Given the description of an element on the screen output the (x, y) to click on. 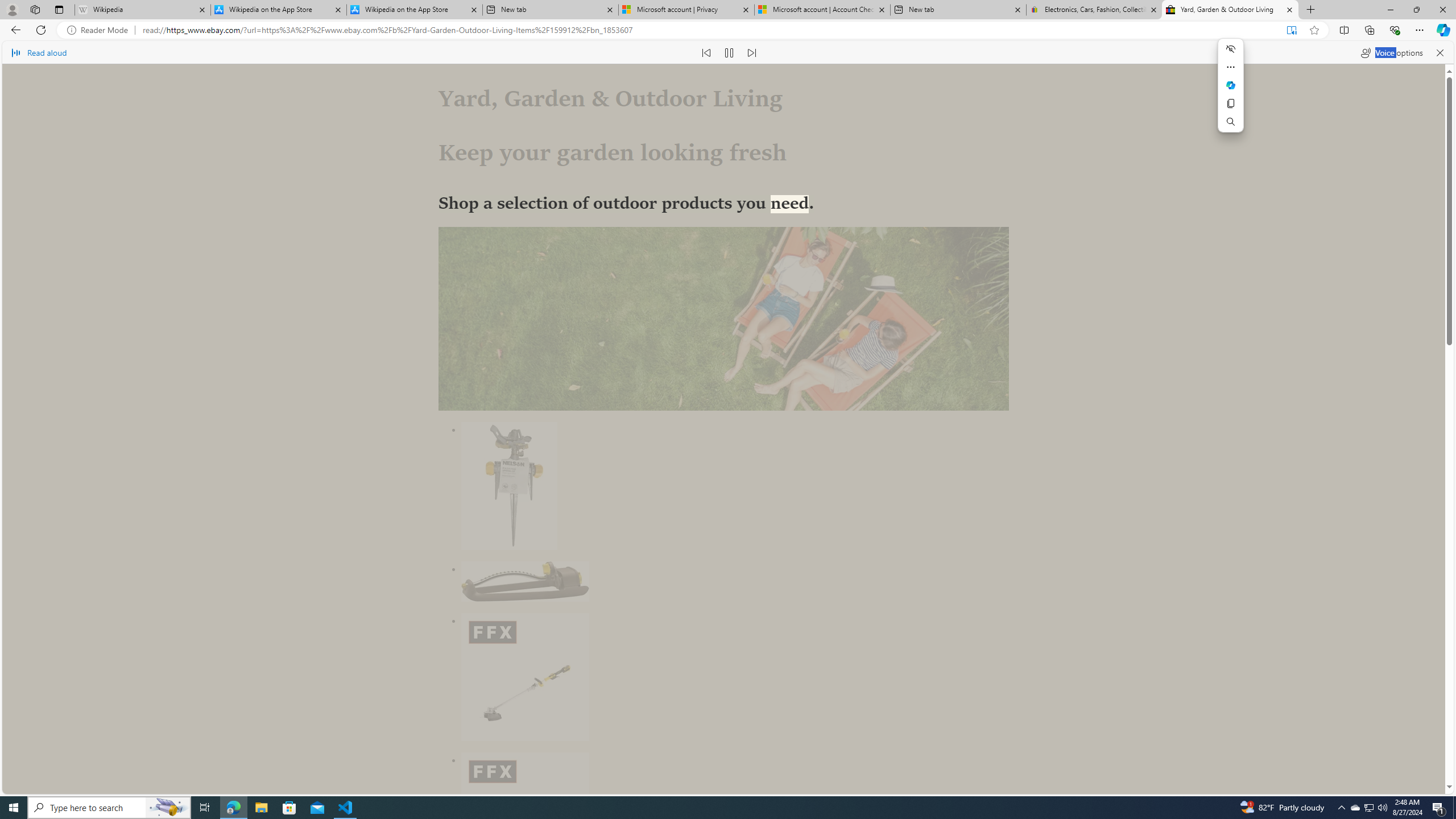
Close read aloud (1439, 52)
spa or hot tub (754, 615)
Yard, Garden & Outdoor Living (1230, 9)
Pause read aloud (Ctrl+Shift+U) (729, 52)
log splitters (611, 615)
Voice options (1391, 52)
chainsaws (671, 615)
